Given the description of an element on the screen output the (x, y) to click on. 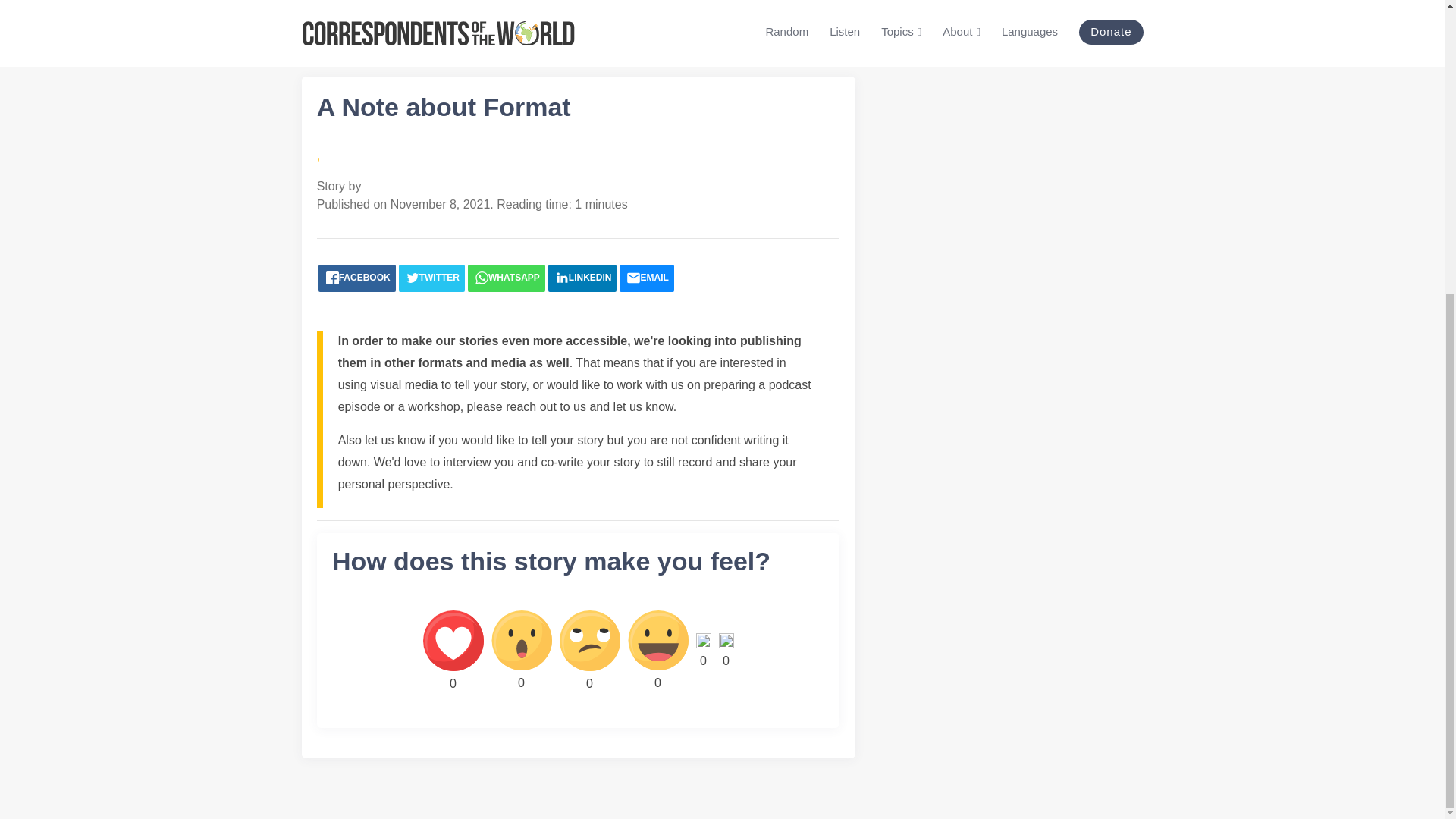
FACEBOOK (357, 277)
WHATSAPP (505, 277)
LINKEDIN (582, 277)
TWITTER (431, 277)
EMAIL (646, 277)
